Given the description of an element on the screen output the (x, y) to click on. 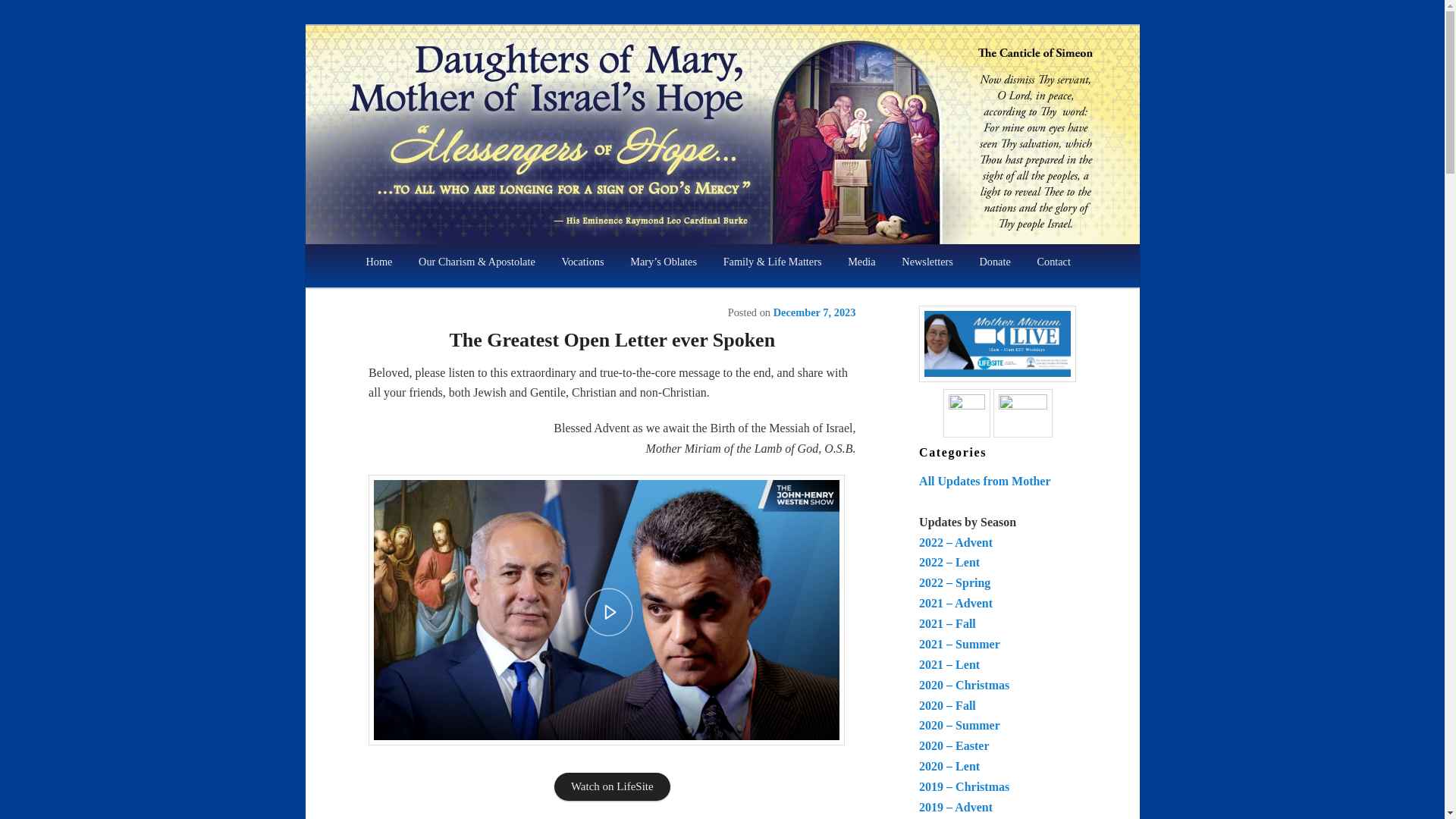
Watch on LifeSite (611, 786)
Daughters of Mary MIH (488, 127)
4:19 pm (814, 312)
Contact (1053, 262)
Vocations (582, 262)
Newsletters (927, 262)
December 7, 2023 (814, 312)
Home (379, 262)
Media (861, 262)
Donate (994, 262)
The Greatest Open Letter ever Spoken (611, 340)
